Given the description of an element on the screen output the (x, y) to click on. 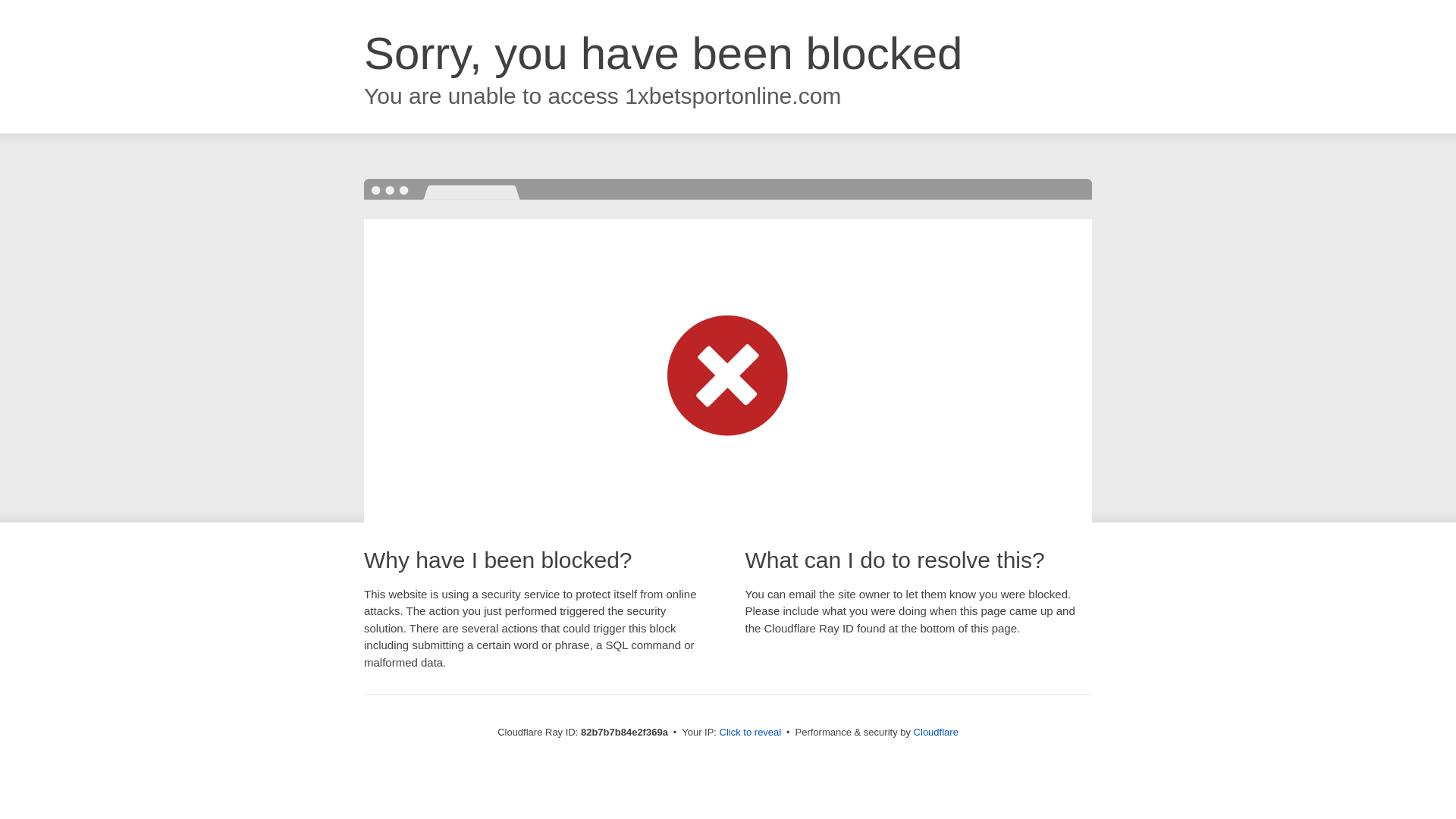
Click to reveal Element type: text (750, 732)
Cloudflare Element type: text (935, 731)
